Given the description of an element on the screen output the (x, y) to click on. 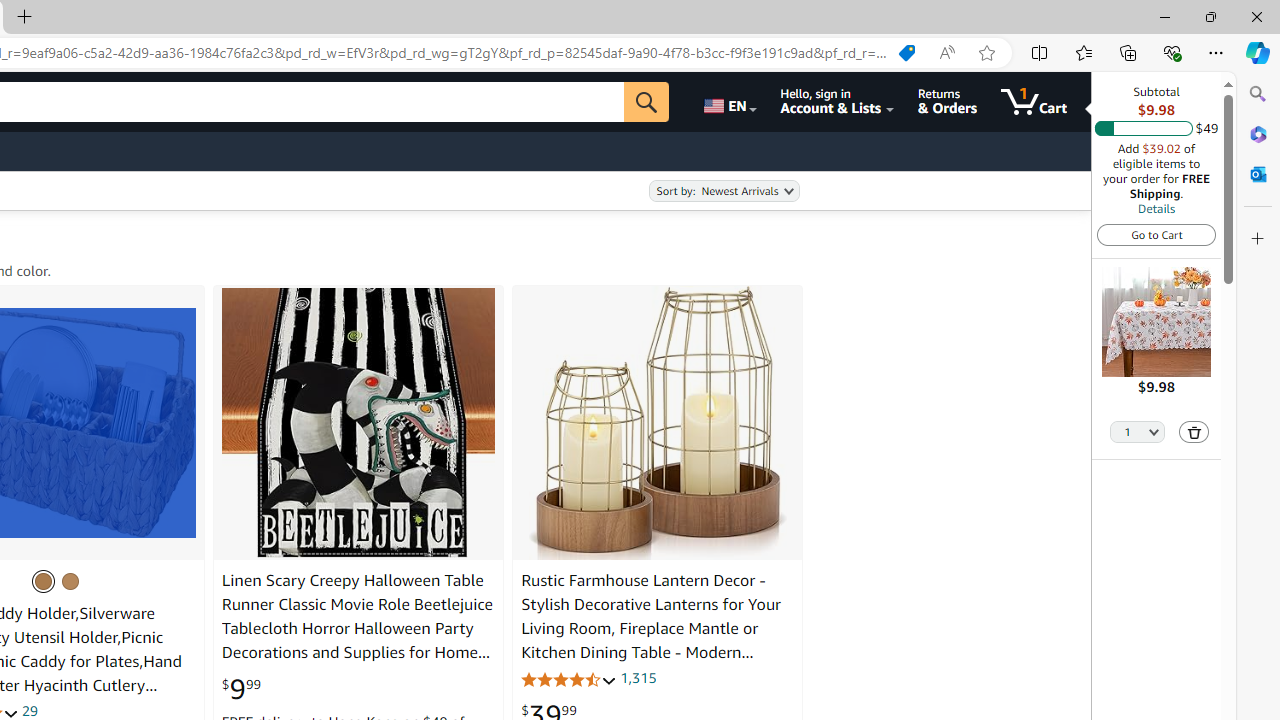
Returns & Orders (946, 101)
Delete (1193, 431)
Delete (1194, 431)
0 items in cart (1034, 101)
